Given the description of an element on the screen output the (x, y) to click on. 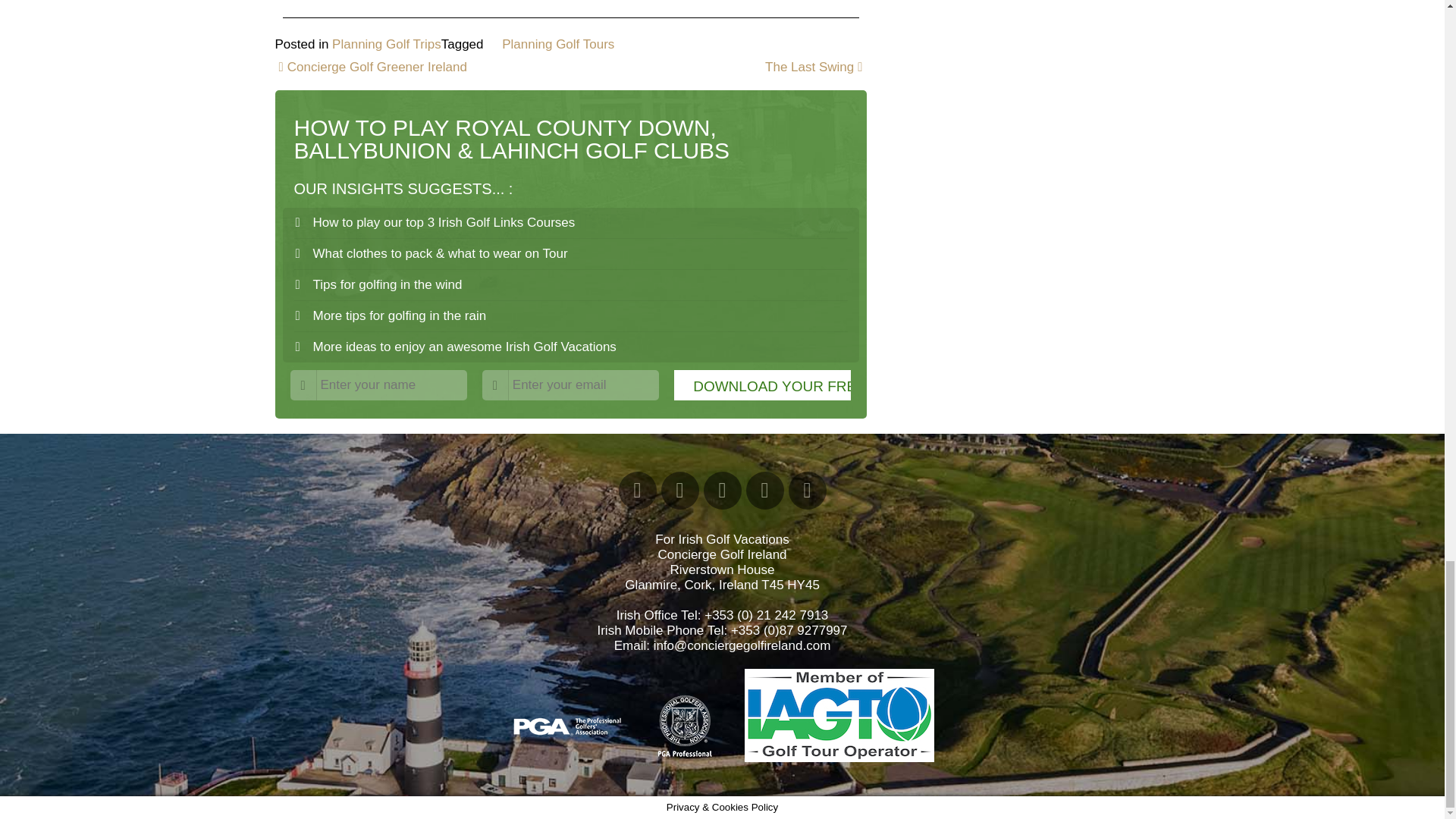
Concierge Golf on YouTube (679, 490)
The Last Swing (815, 66)
Concierge Golf on Instagram (808, 490)
Planning Golf Tours (558, 43)
Download Your Free Ebook (762, 385)
Planning Golf Trips (386, 43)
Concierge Golf Greener Ireland (370, 66)
Download Your Free Ebook (762, 385)
Concierge Golf on Linkedin (722, 490)
Concierge Golf on pinterest (764, 490)
Concierge Golf on facebook (637, 490)
